Given the description of an element on the screen output the (x, y) to click on. 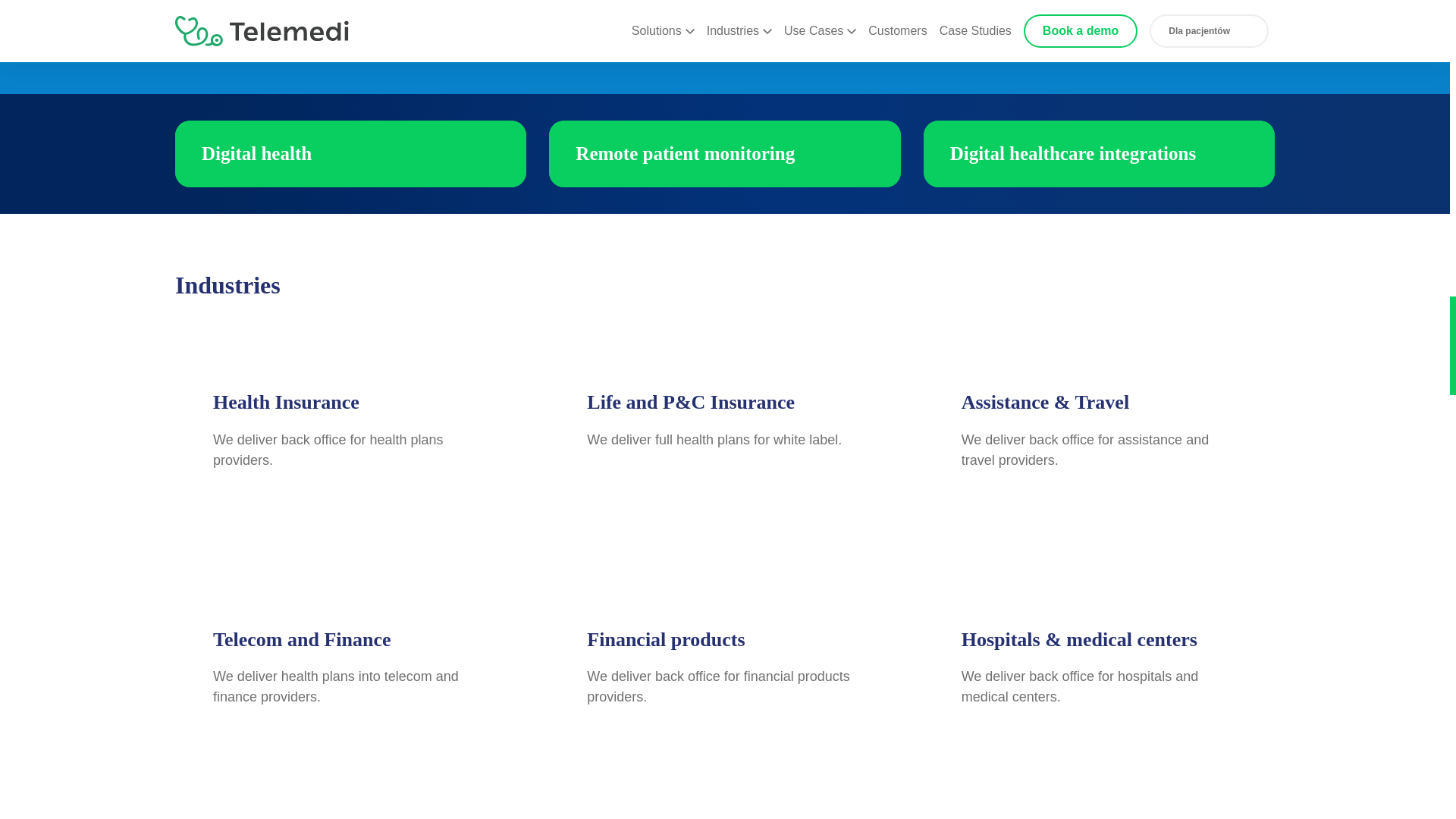
Digital health (349, 153)
Remote patient monitoring (723, 153)
Digital healthcare integrations (1099, 153)
